Given the description of an element on the screen output the (x, y) to click on. 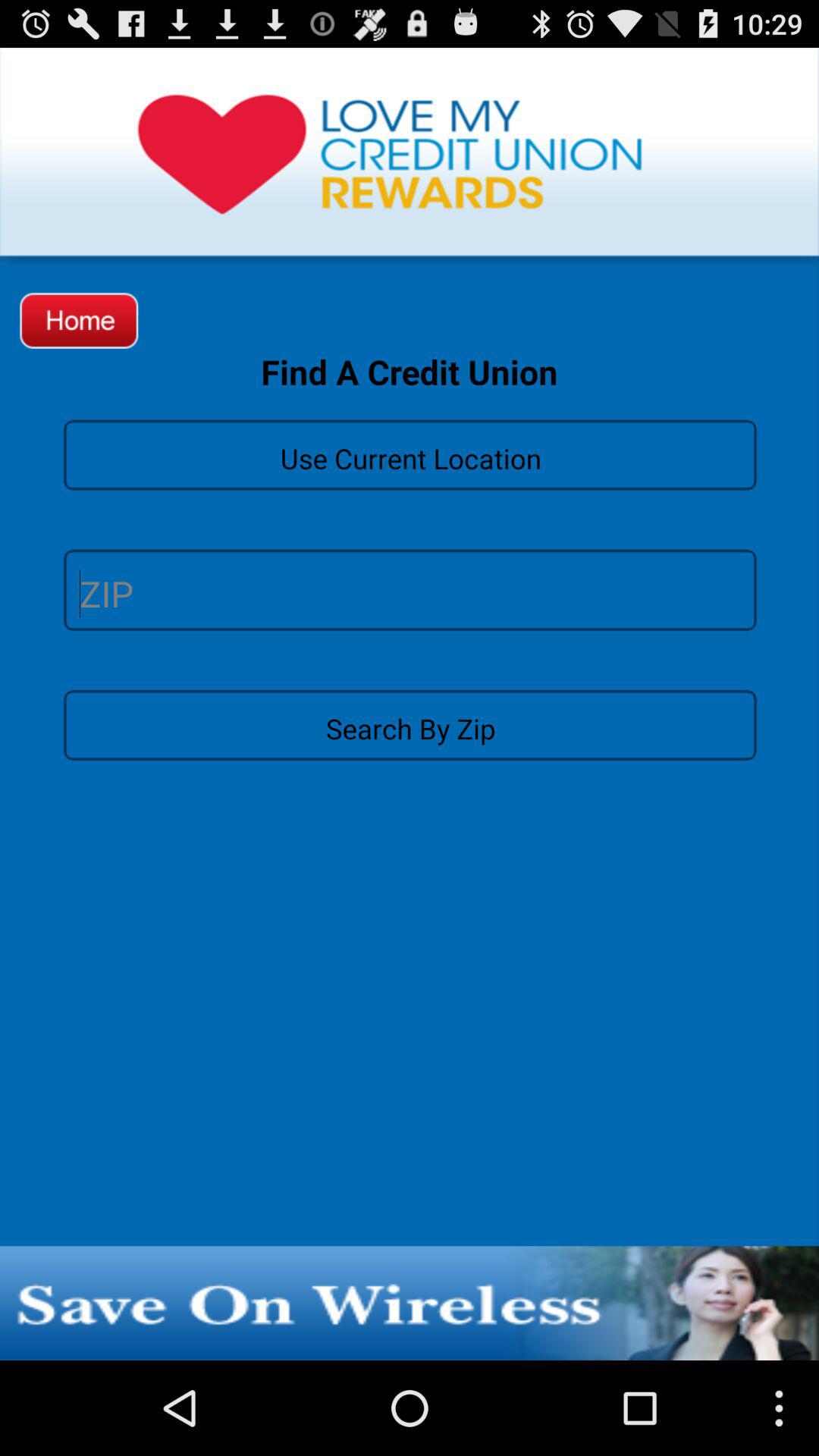
turn on the icon to the left of the find a credit app (78, 320)
